Given the description of an element on the screen output the (x, y) to click on. 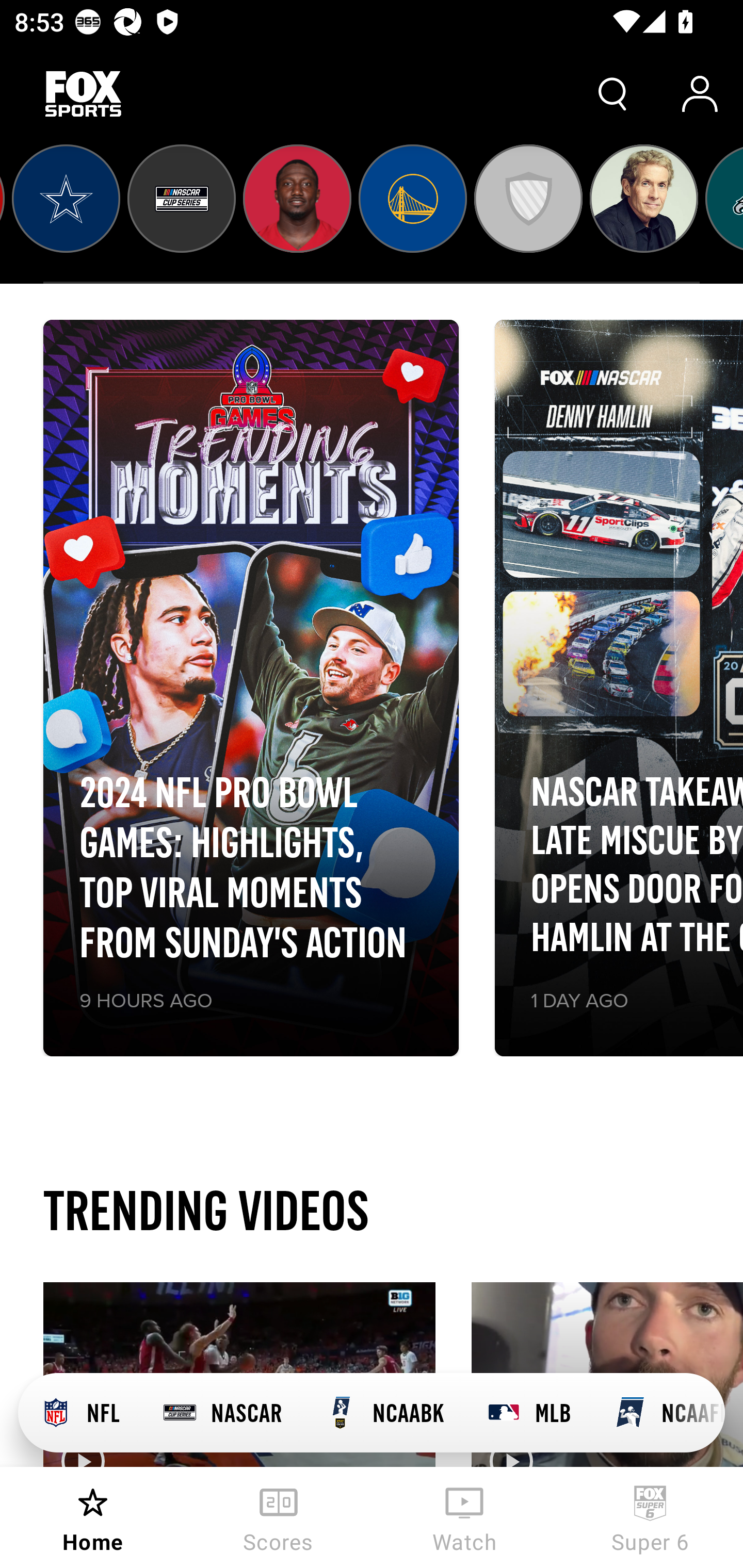
Search (612, 93)
Account (699, 93)
NFL (79, 1412)
NASCAR (222, 1412)
NCAABK (384, 1412)
MLB (528, 1412)
NCAAFB (658, 1412)
Scores (278, 1517)
Watch (464, 1517)
Super 6 (650, 1517)
